Given the description of an element on the screen output the (x, y) to click on. 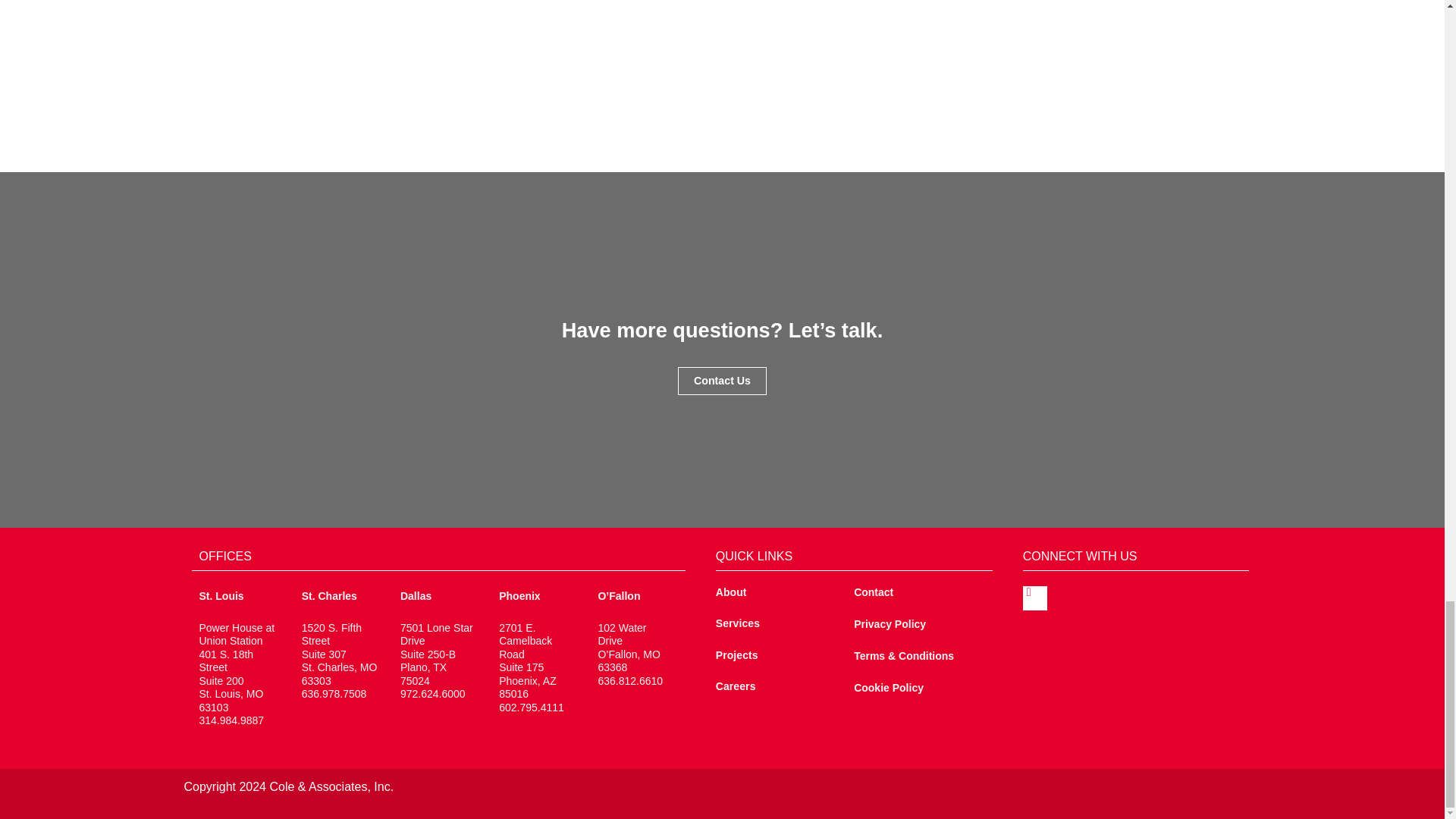
Contact Us (722, 379)
About (731, 592)
Privacy Policy (889, 623)
Projects (737, 654)
Careers (735, 686)
Cookie Policy (888, 687)
Contact (873, 592)
Services (738, 623)
